Given the description of an element on the screen output the (x, y) to click on. 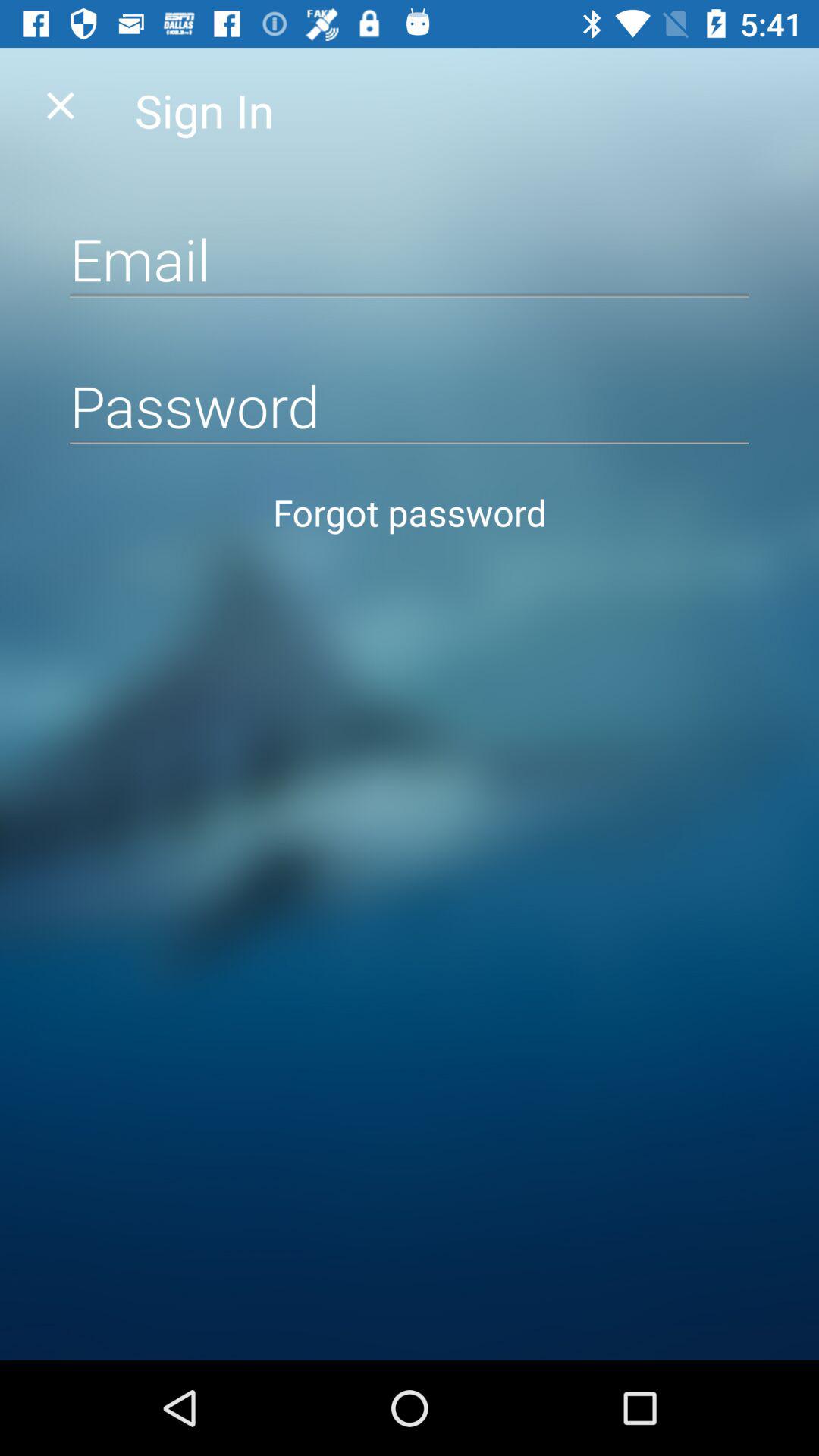
enter password (409, 405)
